Given the description of an element on the screen output the (x, y) to click on. 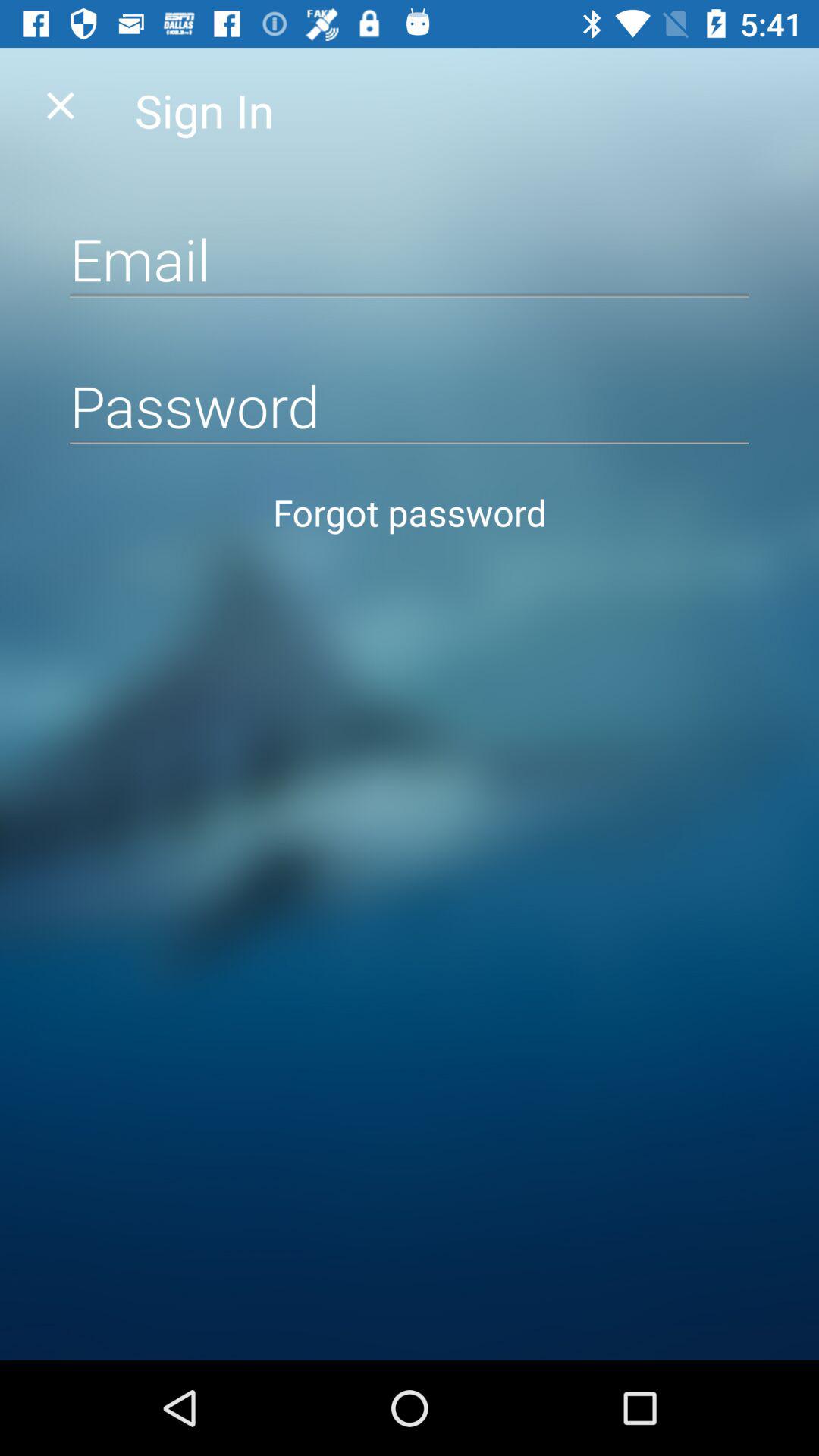
enter password (409, 405)
